Given the description of an element on the screen output the (x, y) to click on. 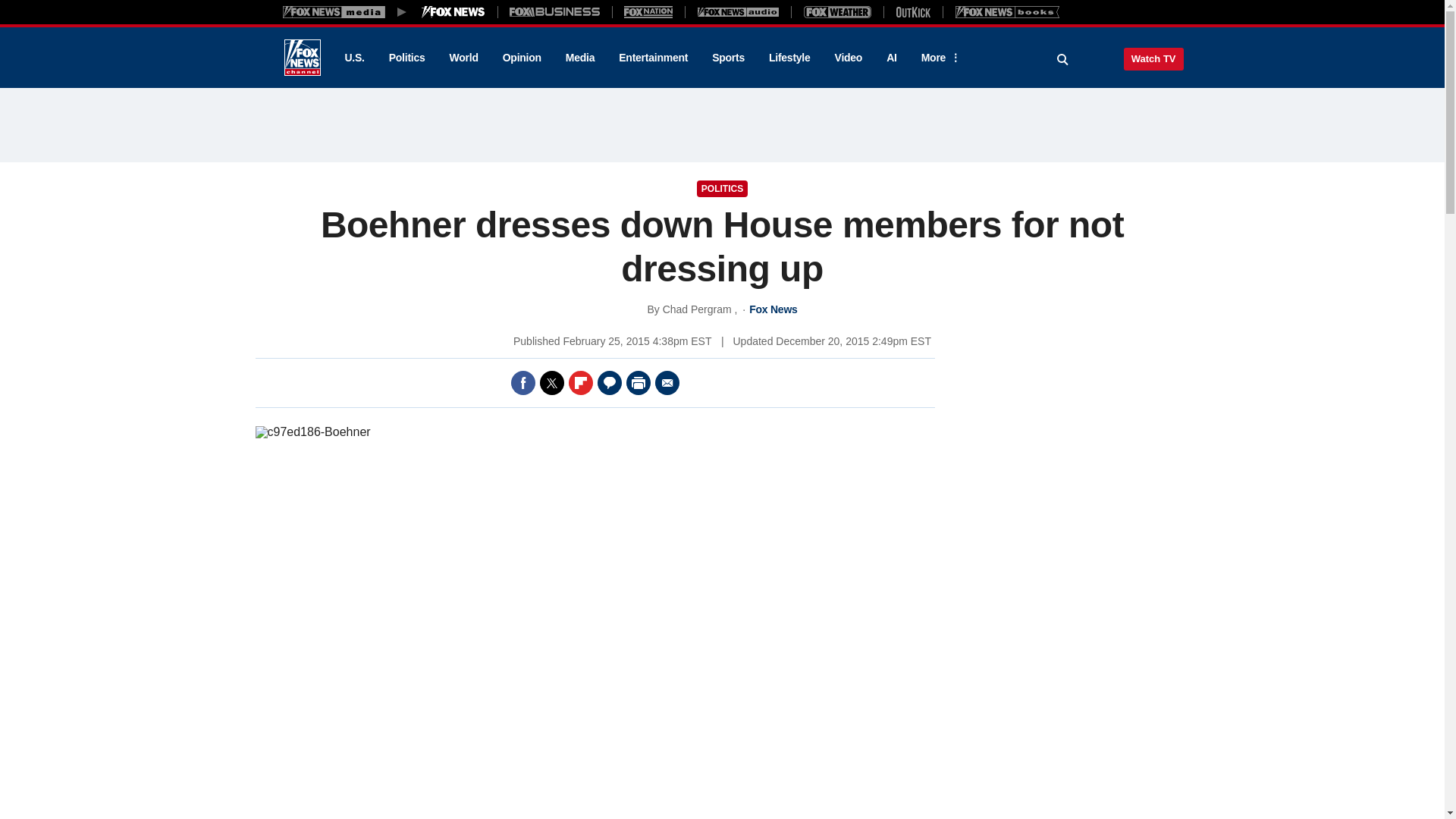
Fox News Audio (737, 11)
Fox Business (554, 11)
Fox News Media (453, 11)
U.S. (353, 57)
Media (580, 57)
World (464, 57)
Books (1007, 11)
Lifestyle (789, 57)
Opinion (521, 57)
Politics (407, 57)
